Given the description of an element on the screen output the (x, y) to click on. 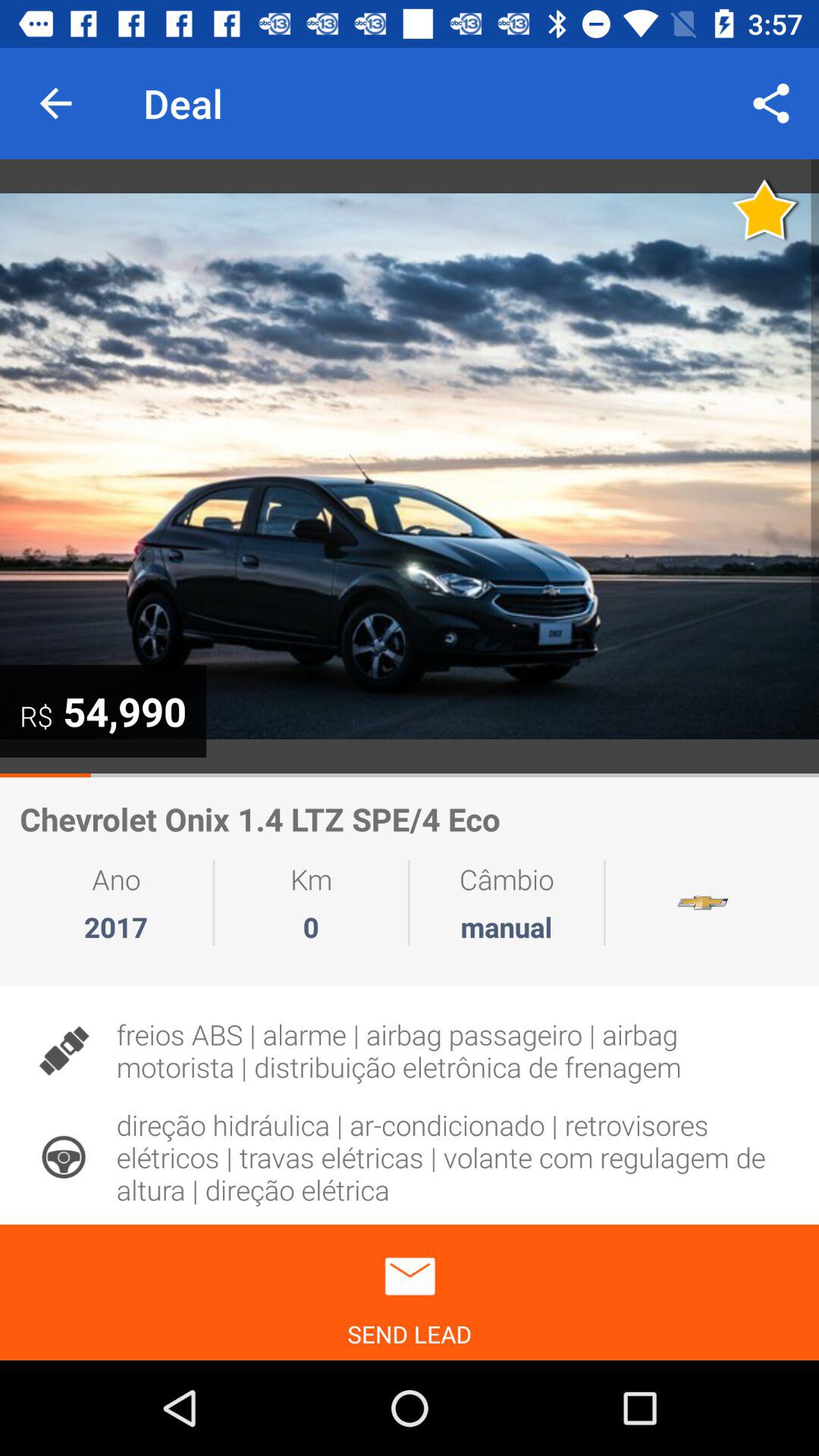
launch send lead icon (409, 1292)
